Given the description of an element on the screen output the (x, y) to click on. 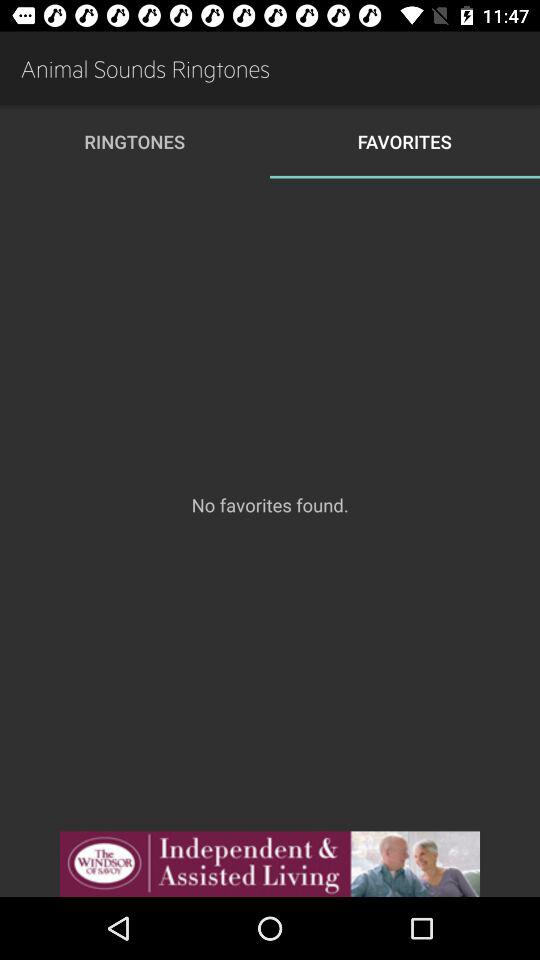
go to advertisement (270, 864)
